Given the description of an element on the screen output the (x, y) to click on. 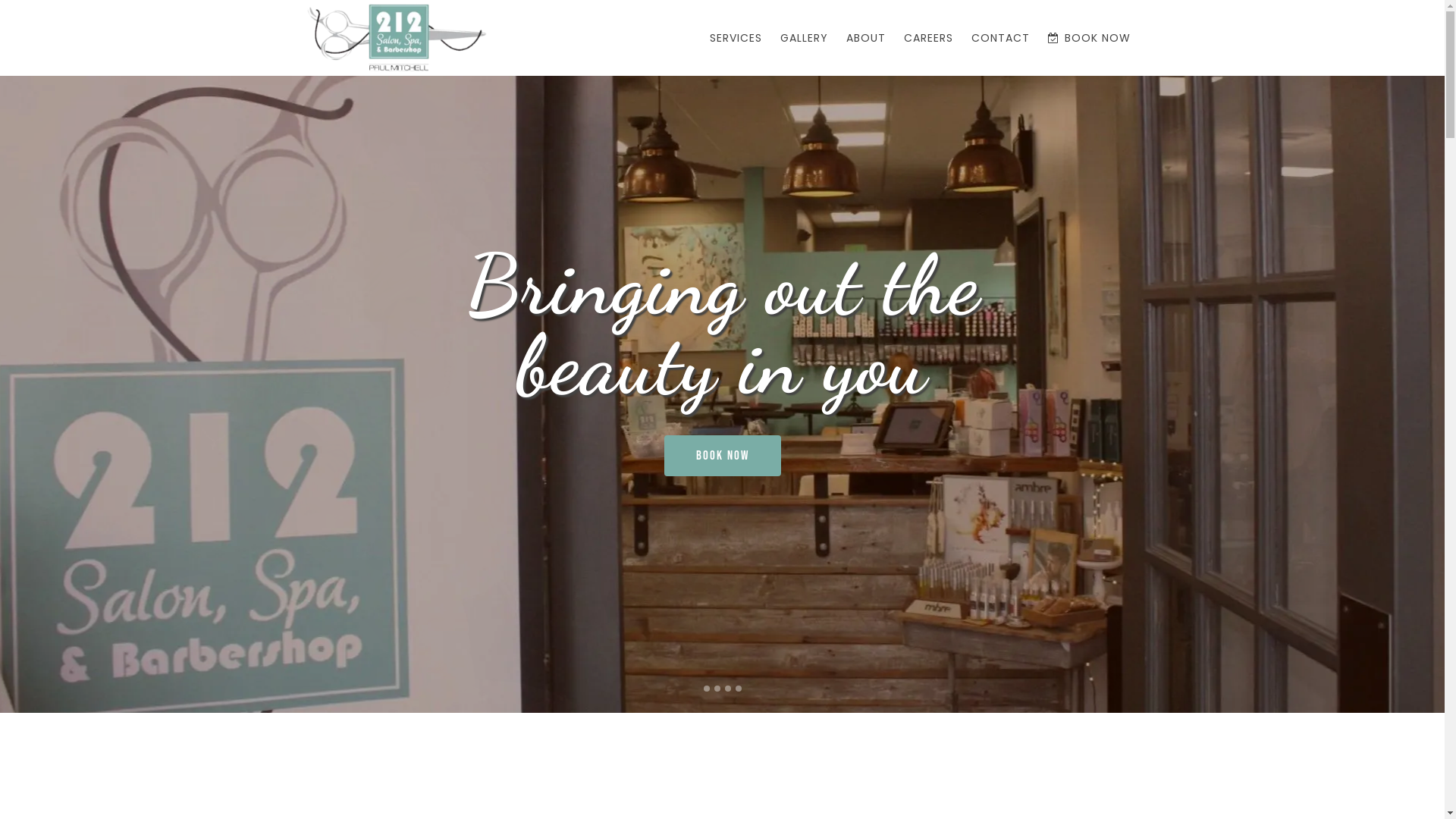
SERVICES Element type: text (735, 37)
ABOUT Element type: text (865, 37)
CAREERS Element type: text (928, 37)
CONTACT Element type: text (999, 37)
GALLERY Element type: text (803, 37)
BOOK NOW Element type: text (722, 455)
BOOK NOW Element type: text (1088, 37)
